Given the description of an element on the screen output the (x, y) to click on. 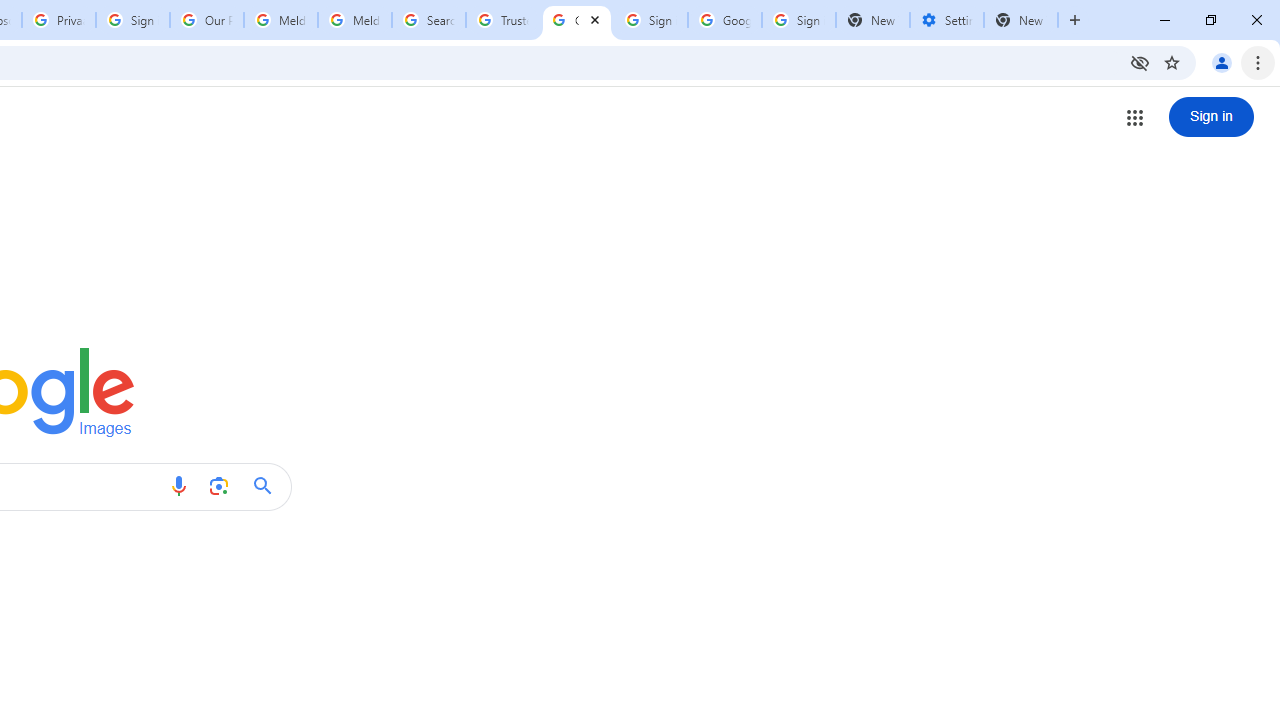
Google Search (268, 485)
Sign in - Google Accounts (133, 20)
Trusted Information and Content - Google Safety Center (502, 20)
New Tab (1021, 20)
Sign in - Google Accounts (798, 20)
Search our Doodle Library Collection - Google Doodles (428, 20)
Google Cybersecurity Innovations - Google Safety Center (724, 20)
